Given the description of an element on the screen output the (x, y) to click on. 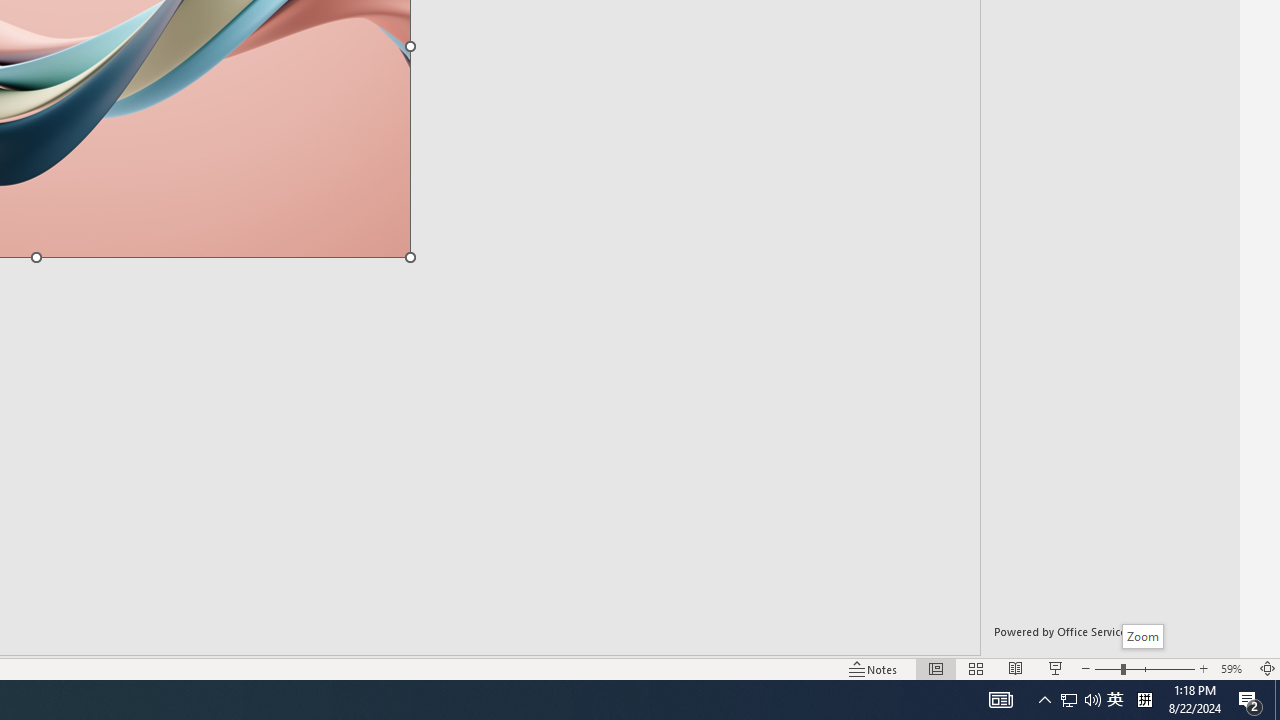
Zoom 59% (1234, 668)
